Given the description of an element on the screen output the (x, y) to click on. 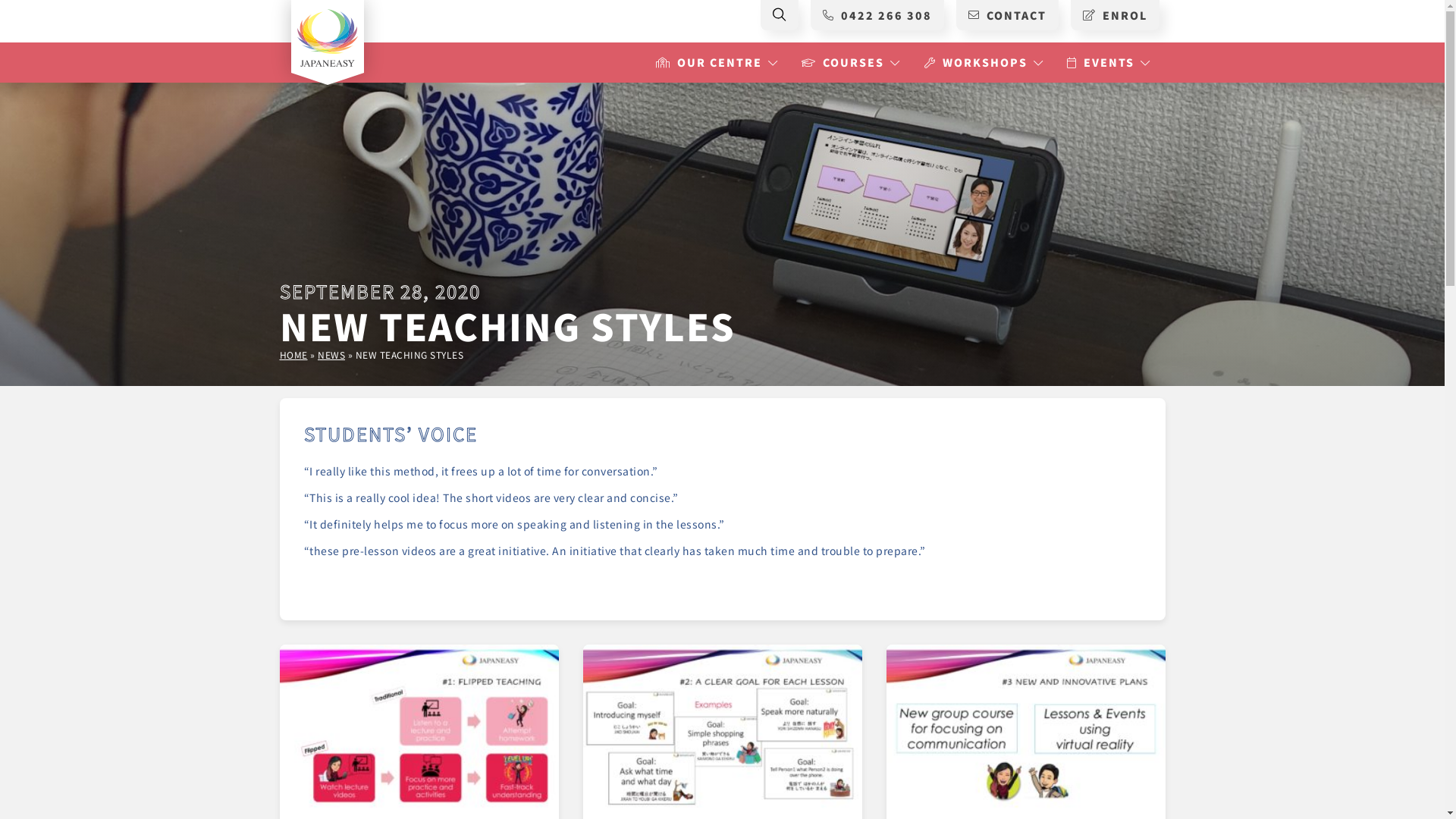
WORKSHOPS Element type: text (974, 62)
OUR CENTRE Element type: text (708, 62)
ENROL Element type: text (1114, 15)
EVENTS Element type: text (1100, 62)
0422 266 308 Element type: text (876, 15)
CONTACT Element type: text (1006, 15)
HOME Element type: text (293, 354)
NEWS Element type: text (331, 354)
Japaneasy Element type: hover (327, 36)
COURSES Element type: text (842, 62)
